Given the description of an element on the screen output the (x, y) to click on. 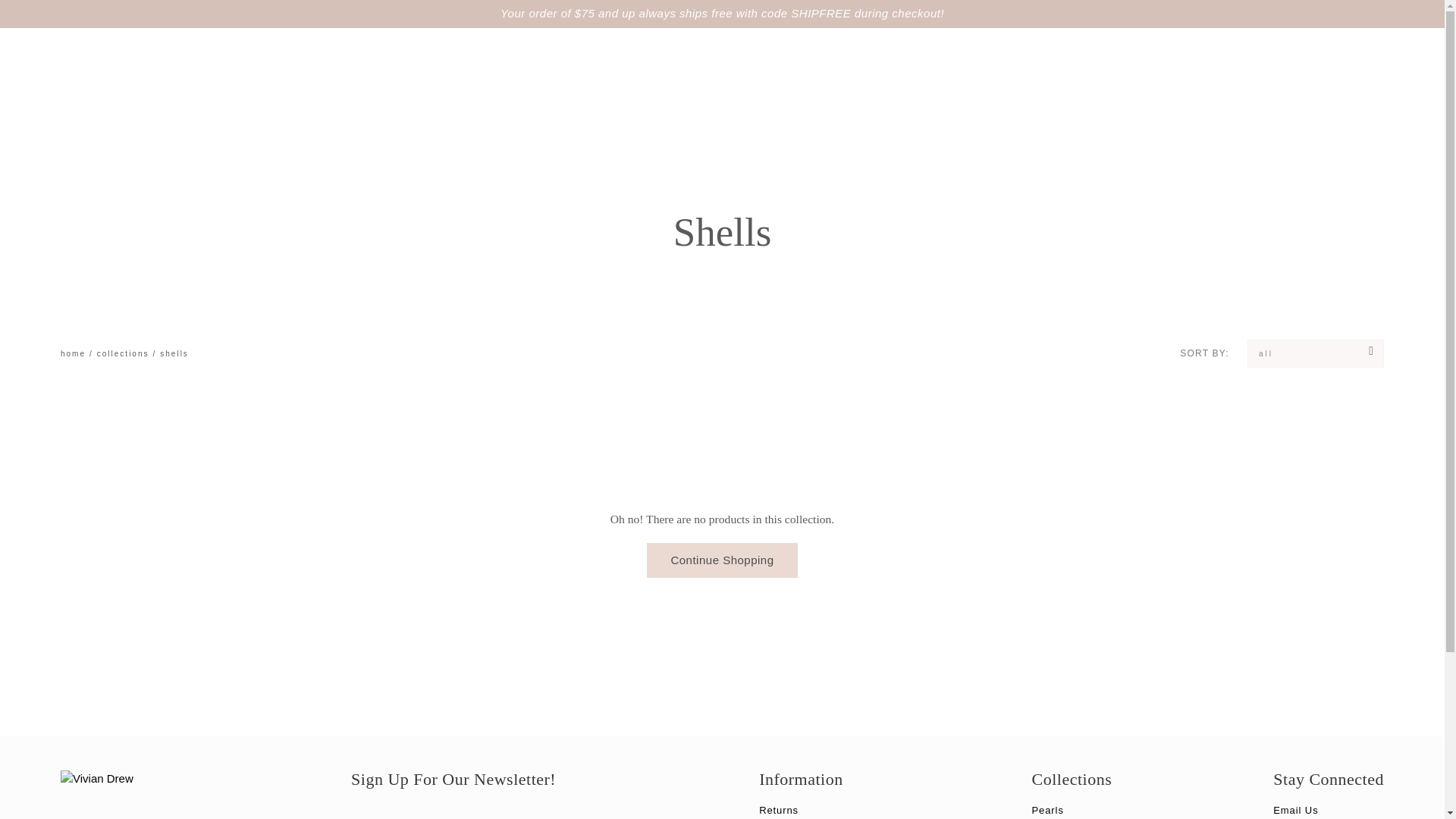
Back to the Homepage (73, 353)
